Given the description of an element on the screen output the (x, y) to click on. 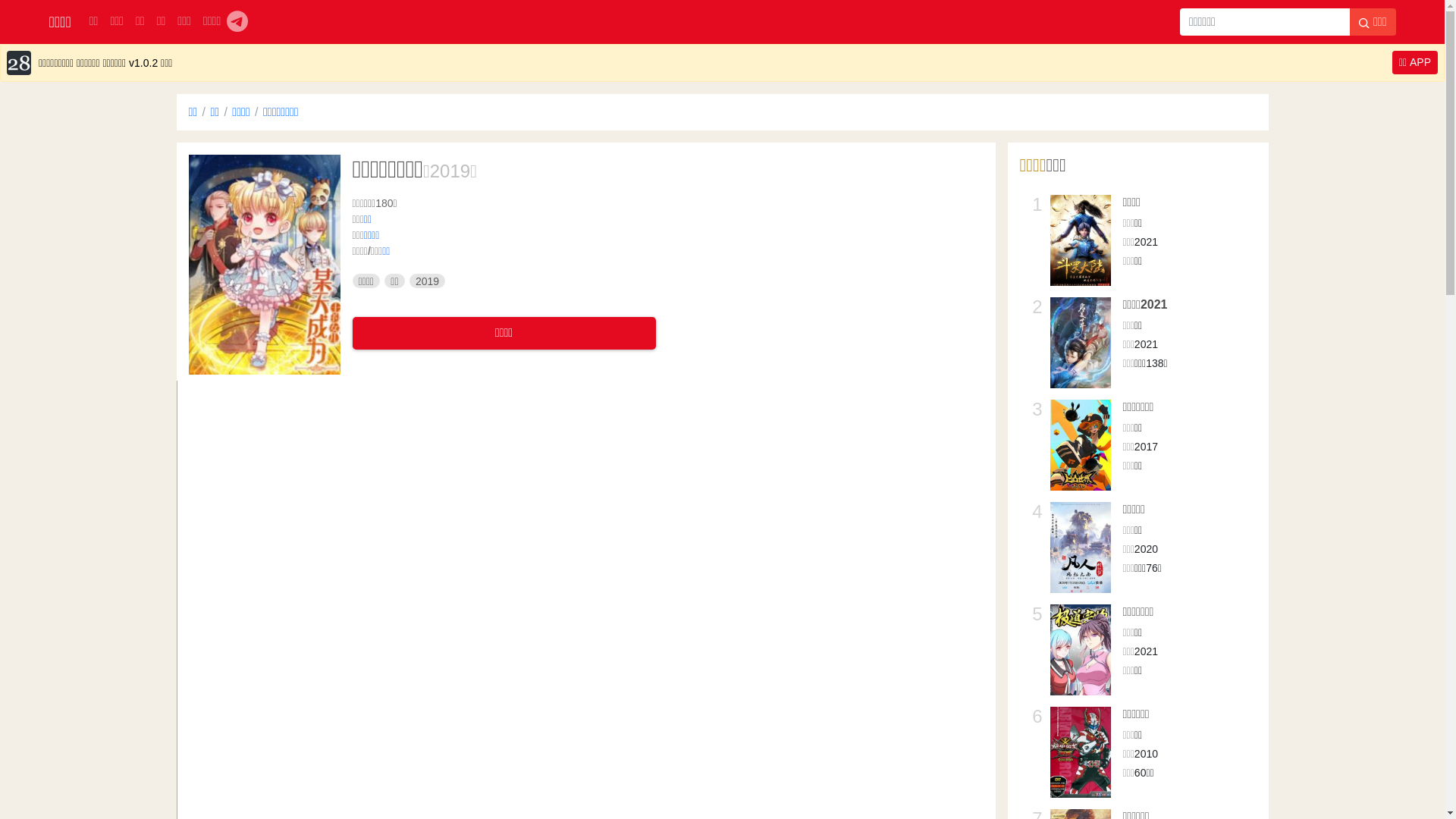
2019 Element type: text (427, 280)
2019 Element type: text (449, 170)
